Given the description of an element on the screen output the (x, y) to click on. 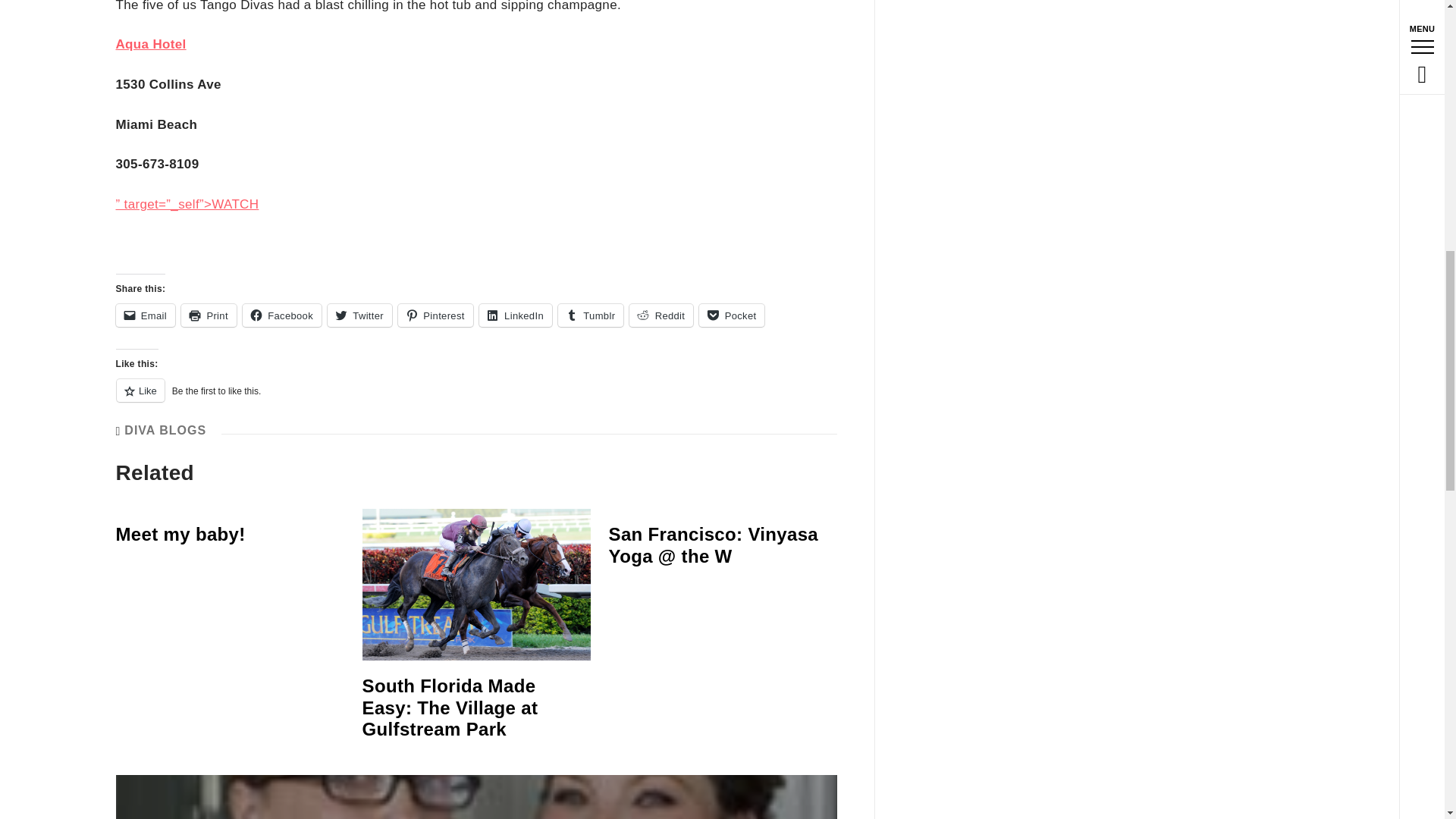
Click to share on Facebook (282, 314)
Click to share on LinkedIn (515, 314)
Click to share on Twitter (359, 314)
Click to share on Pocket (731, 314)
Click to share on Reddit (660, 314)
Click to share on Tumblr (590, 314)
Click to print (207, 314)
Click to share on Pinterest (435, 314)
Click to email a link to a friend (144, 314)
